Given the description of an element on the screen output the (x, y) to click on. 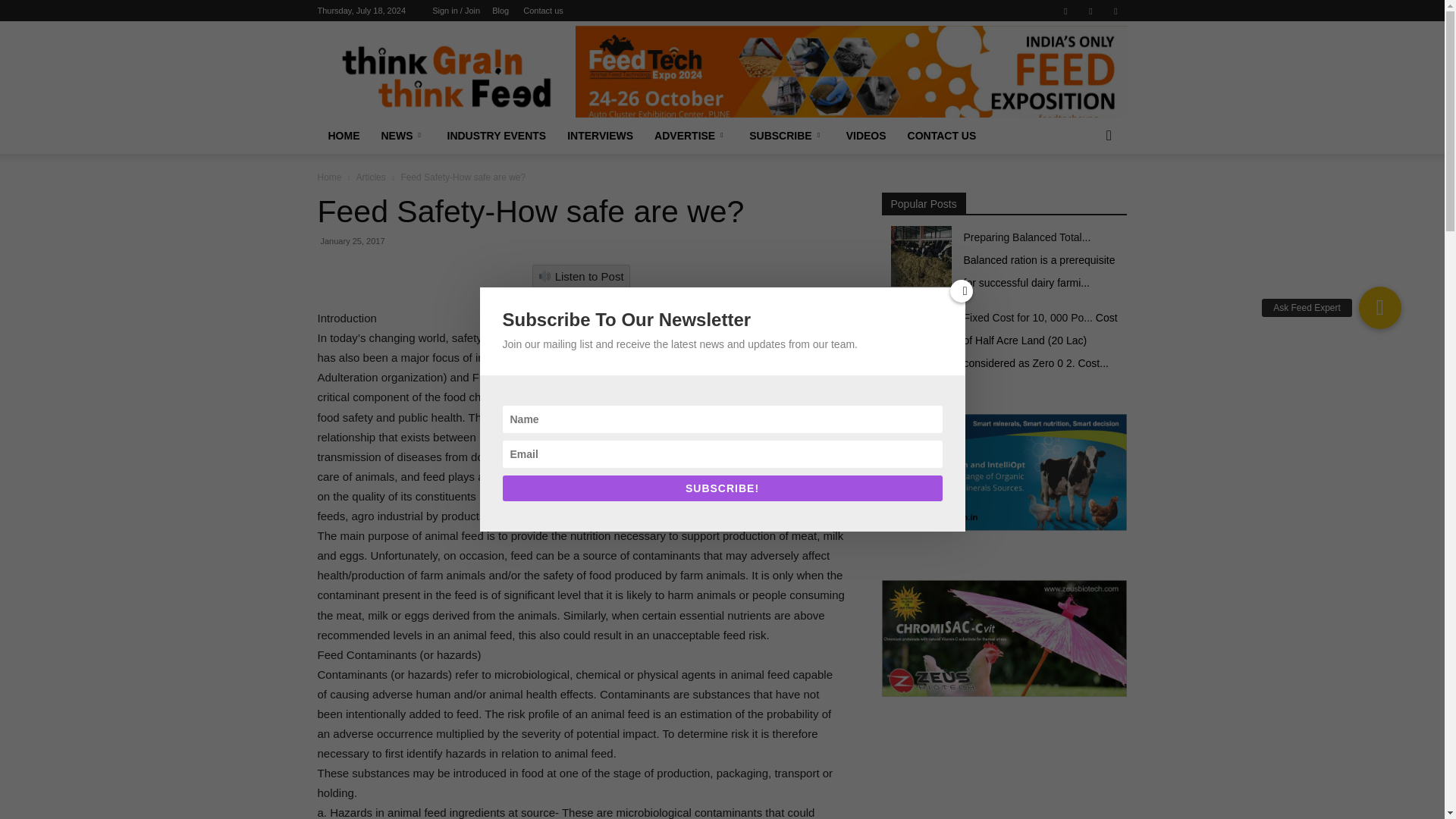
Blog (500, 10)
Contact us (542, 10)
Linkedin (1090, 10)
HOME (343, 135)
Facebook (1065, 10)
View all posts in Articles (370, 176)
NEWS (402, 135)
Twitter (1114, 10)
